Given the description of an element on the screen output the (x, y) to click on. 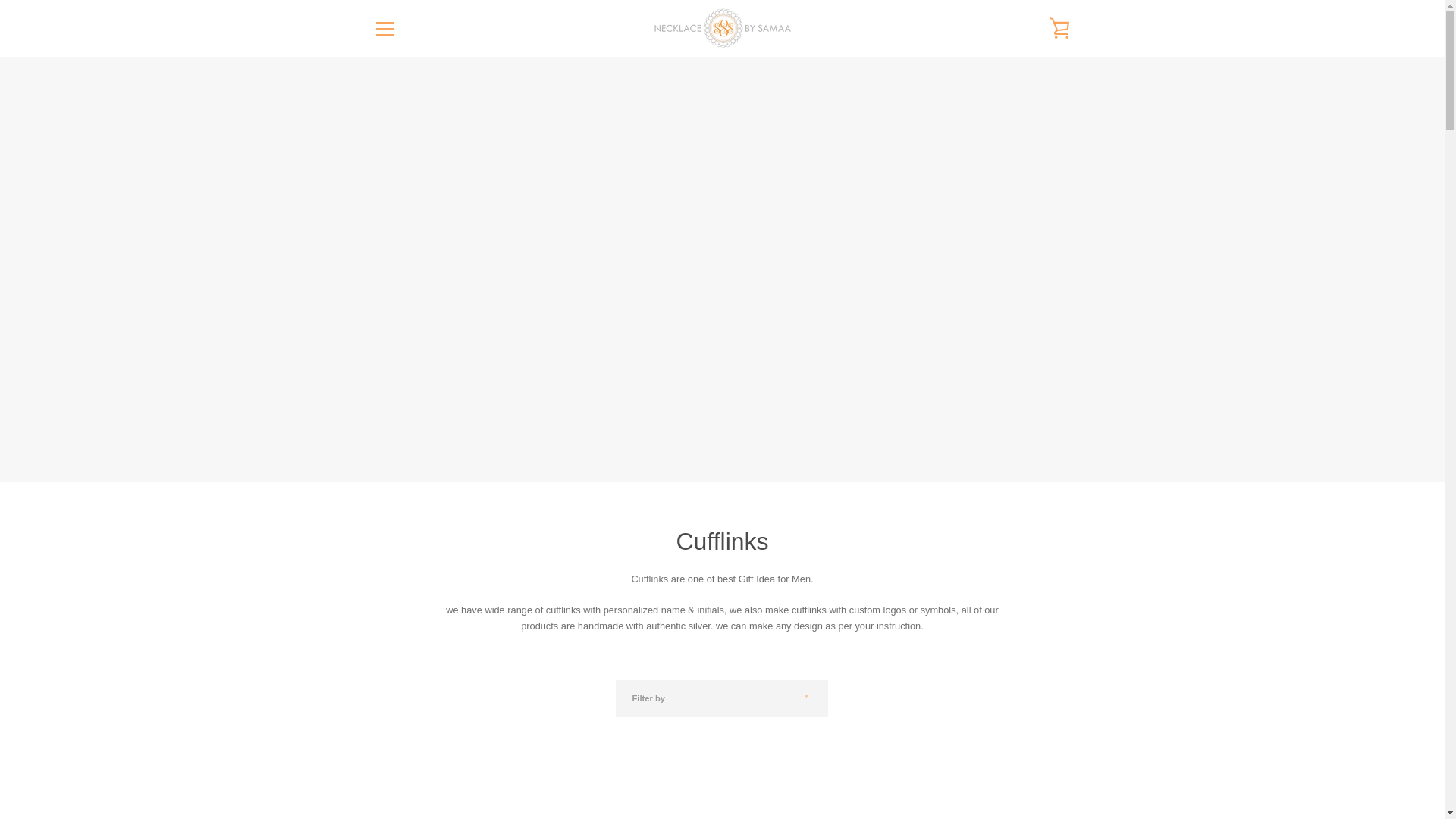
VIEW CART (1059, 27)
MENU (384, 27)
